Given the description of an element on the screen output the (x, y) to click on. 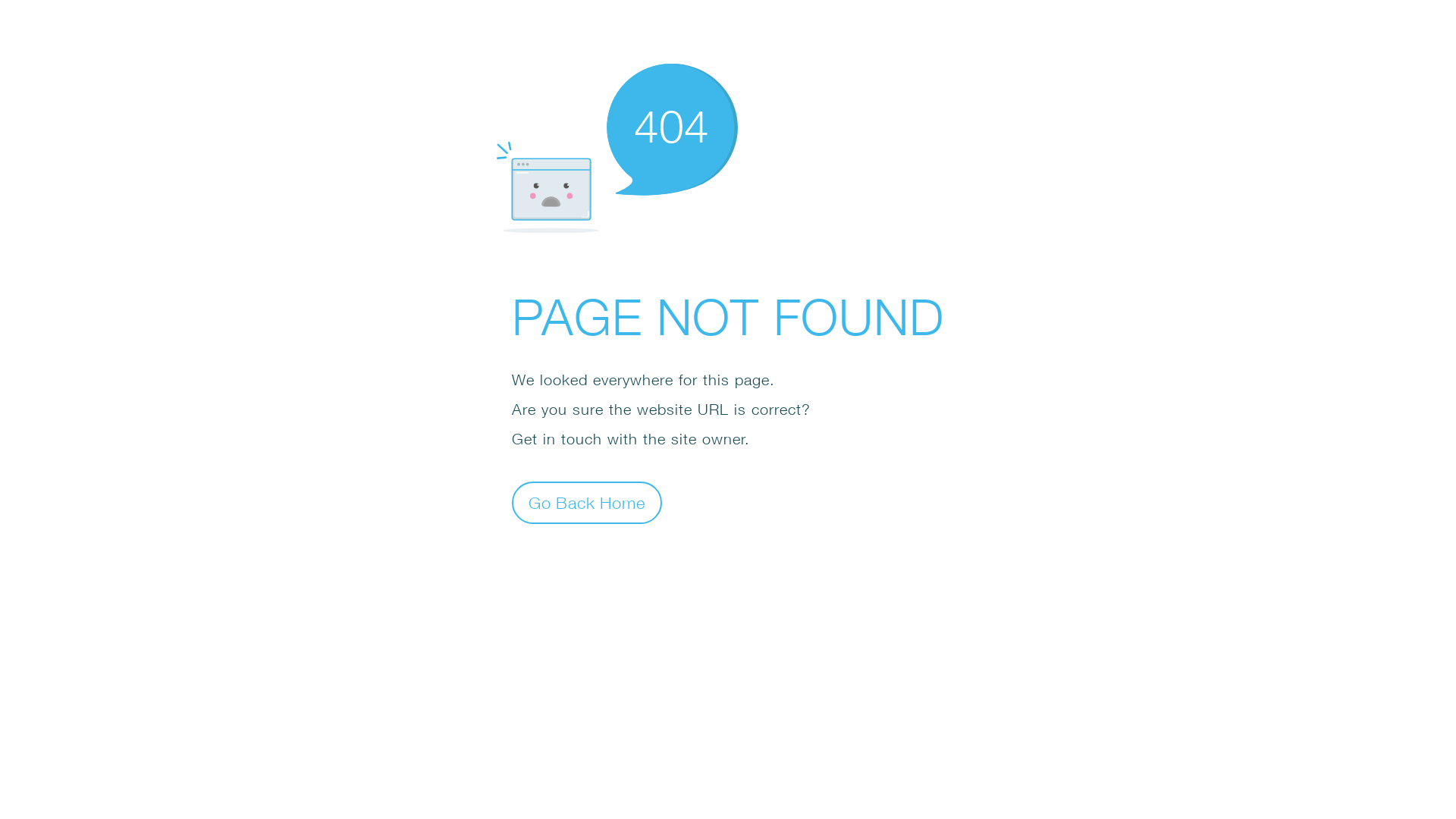
Go Back Home Element type: text (586, 502)
